Given the description of an element on the screen output the (x, y) to click on. 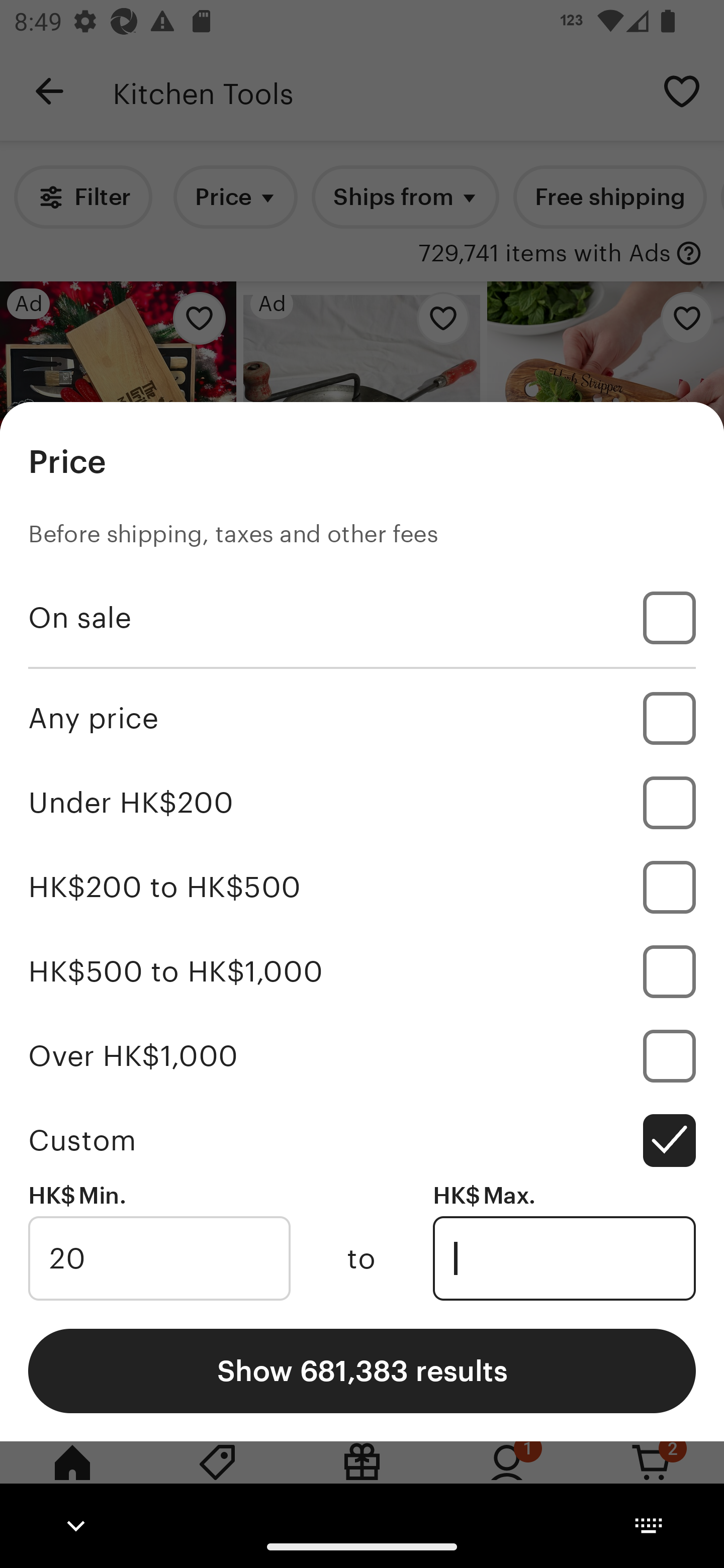
On sale (362, 617)
Any price (362, 717)
Under HK$200 (362, 802)
HK$200 to HK$500 (362, 887)
HK$500 to HK$1,000 (362, 970)
Over HK$1,000 (362, 1054)
Custom (362, 1139)
20 (159, 1257)
Show 681,383 results (361, 1370)
